Given the description of an element on the screen output the (x, y) to click on. 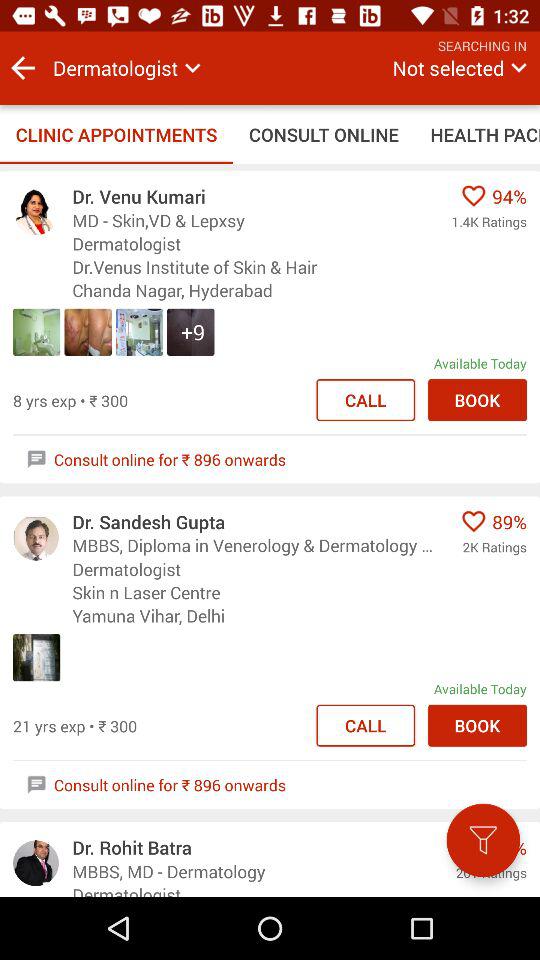
click book button in second option in the list (477, 725)
select the second  image below dr venu kumari address (87, 332)
click on second call option (365, 725)
